Given the description of an element on the screen output the (x, y) to click on. 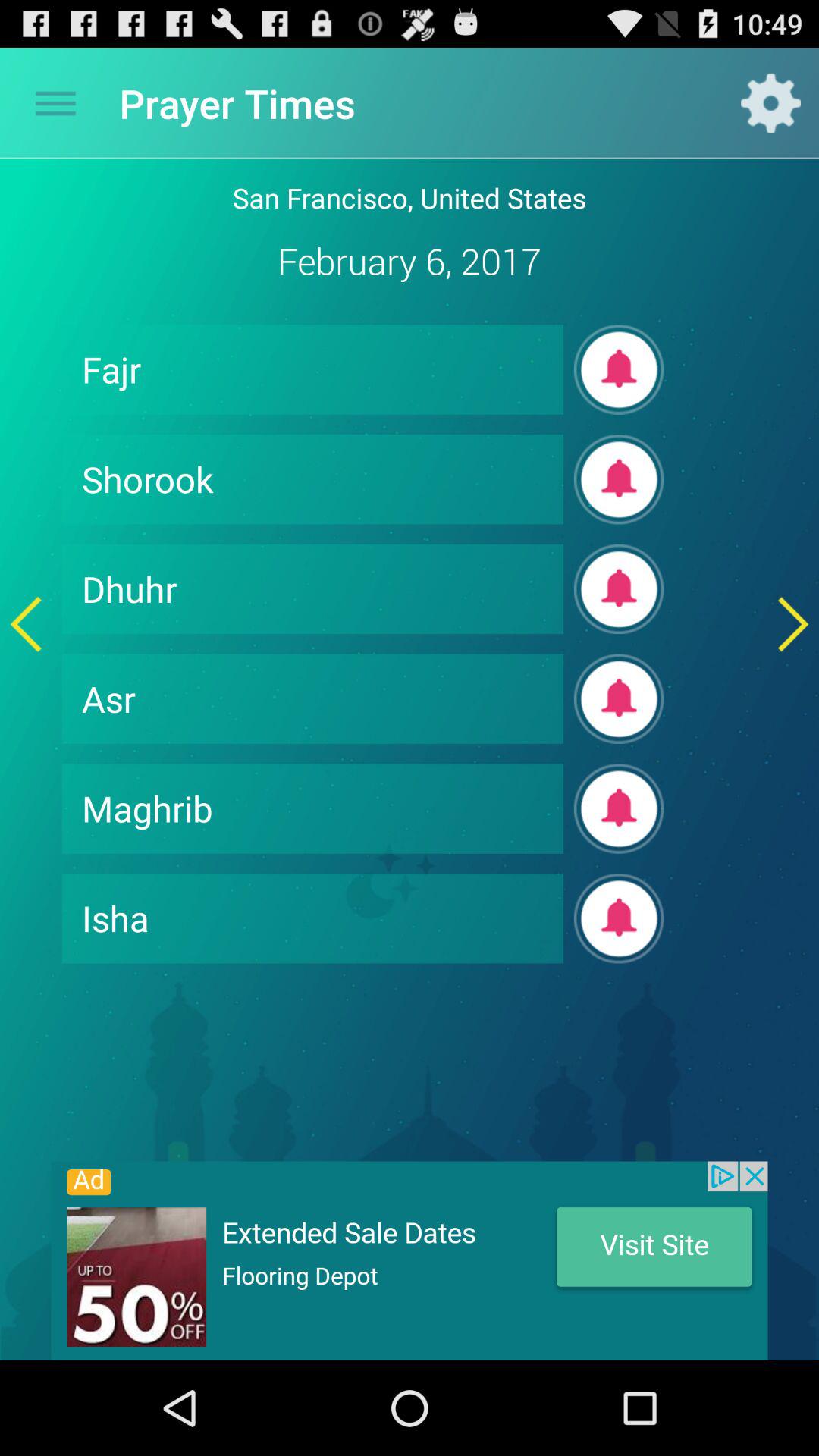
set alarm for isha (618, 918)
